Given the description of an element on the screen output the (x, y) to click on. 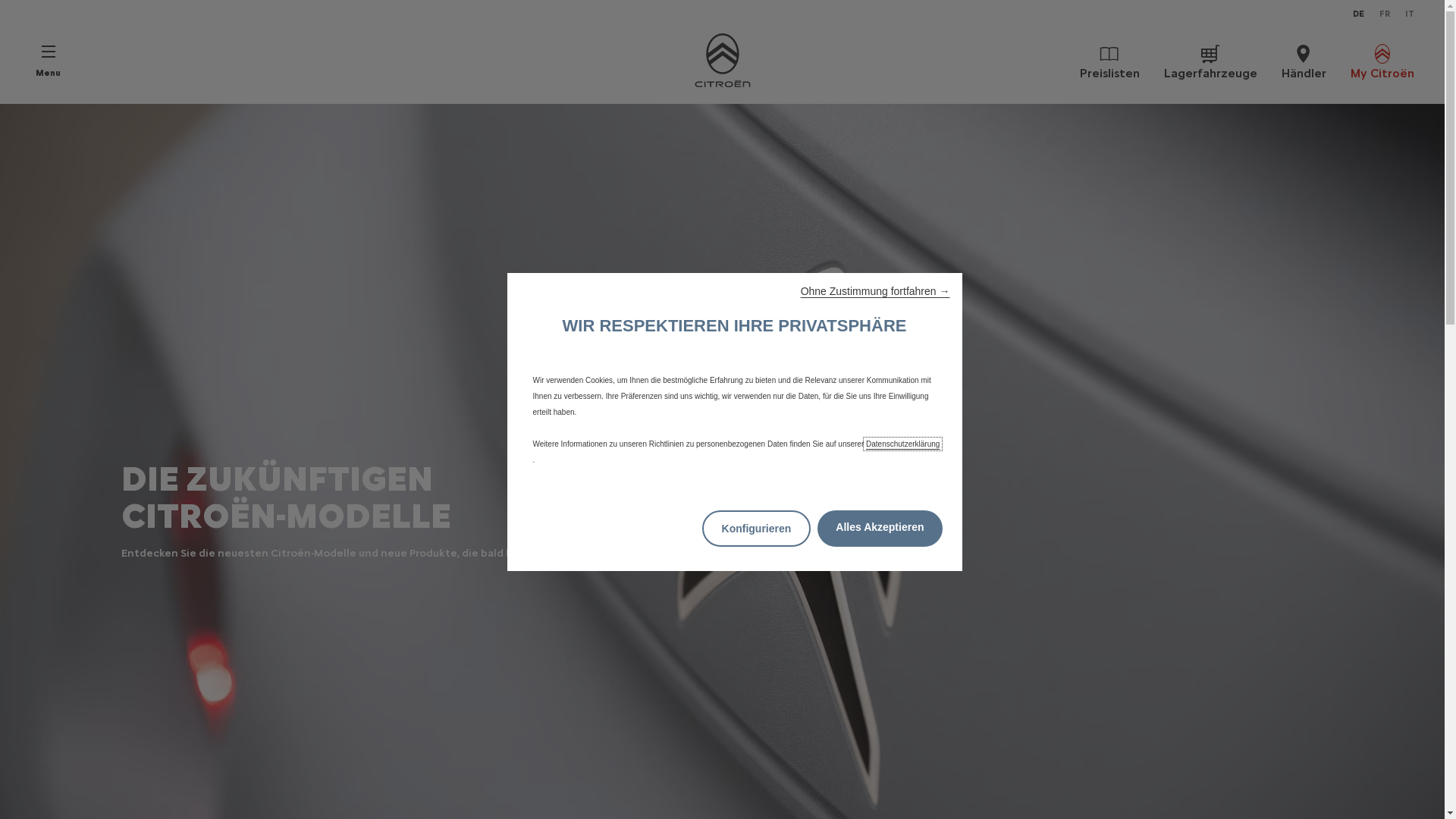
FR Element type: text (1384, 13)
DE Element type: text (1358, 13)
Preislisten Element type: text (1109, 60)
Konfigurieren Element type: text (756, 528)
Alles Akzeptieren Element type: text (879, 528)
STARTSEITE Element type: hover (721, 61)
IT Element type: text (1409, 13)
Menu Element type: text (47, 61)
Lagerfahrzeuge Element type: text (1210, 60)
